Given the description of an element on the screen output the (x, y) to click on. 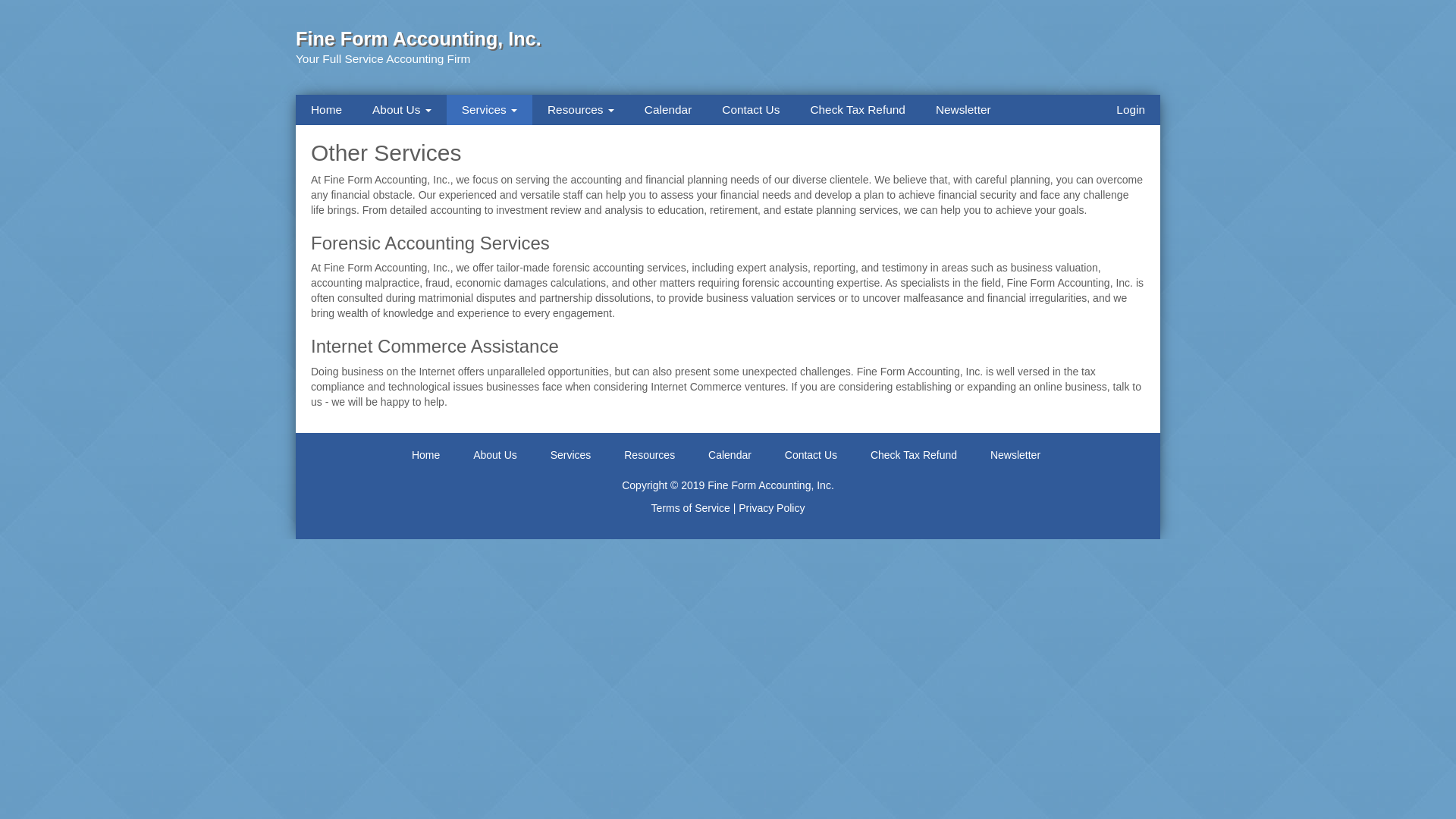
Home (425, 454)
Contact Us (810, 454)
About Us (494, 454)
Login (1130, 110)
Check Tax Refund (857, 110)
Fine Form Accounting, Inc. (418, 38)
Newsletter (963, 110)
Services (489, 110)
Resources (649, 454)
Contact Us (750, 110)
Calendar (729, 454)
Home (325, 110)
Home page (418, 38)
Terms of Service (690, 508)
Services (570, 454)
